Given the description of an element on the screen output the (x, y) to click on. 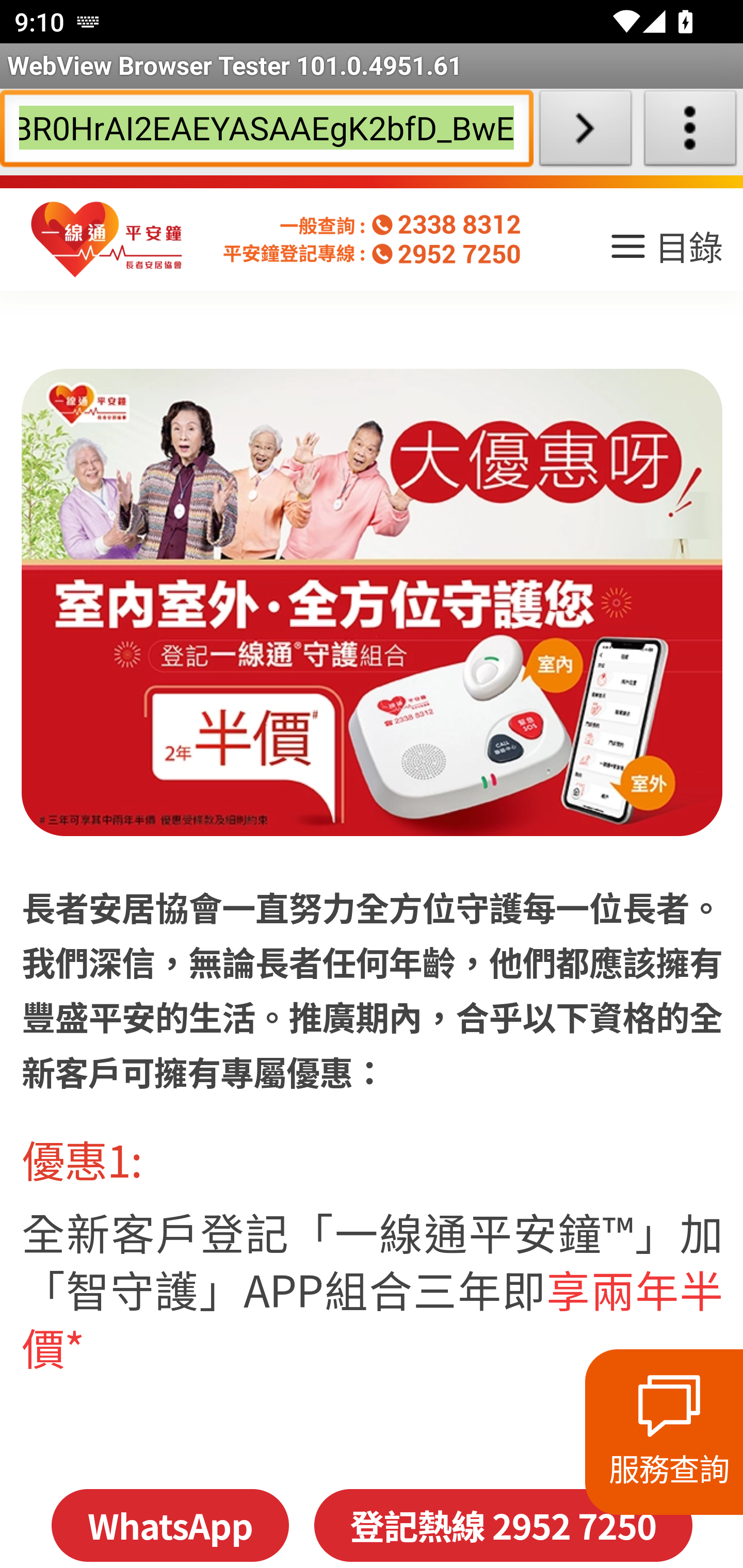
Load URL (585, 132)
About WebView (690, 132)
homepage (107, 240)
目錄 (665, 252)
服務查詢 (664, 1432)
WhatsApp (169, 1525)
登記熱線 2952 7250 (502, 1525)
